Given the description of an element on the screen output the (x, y) to click on. 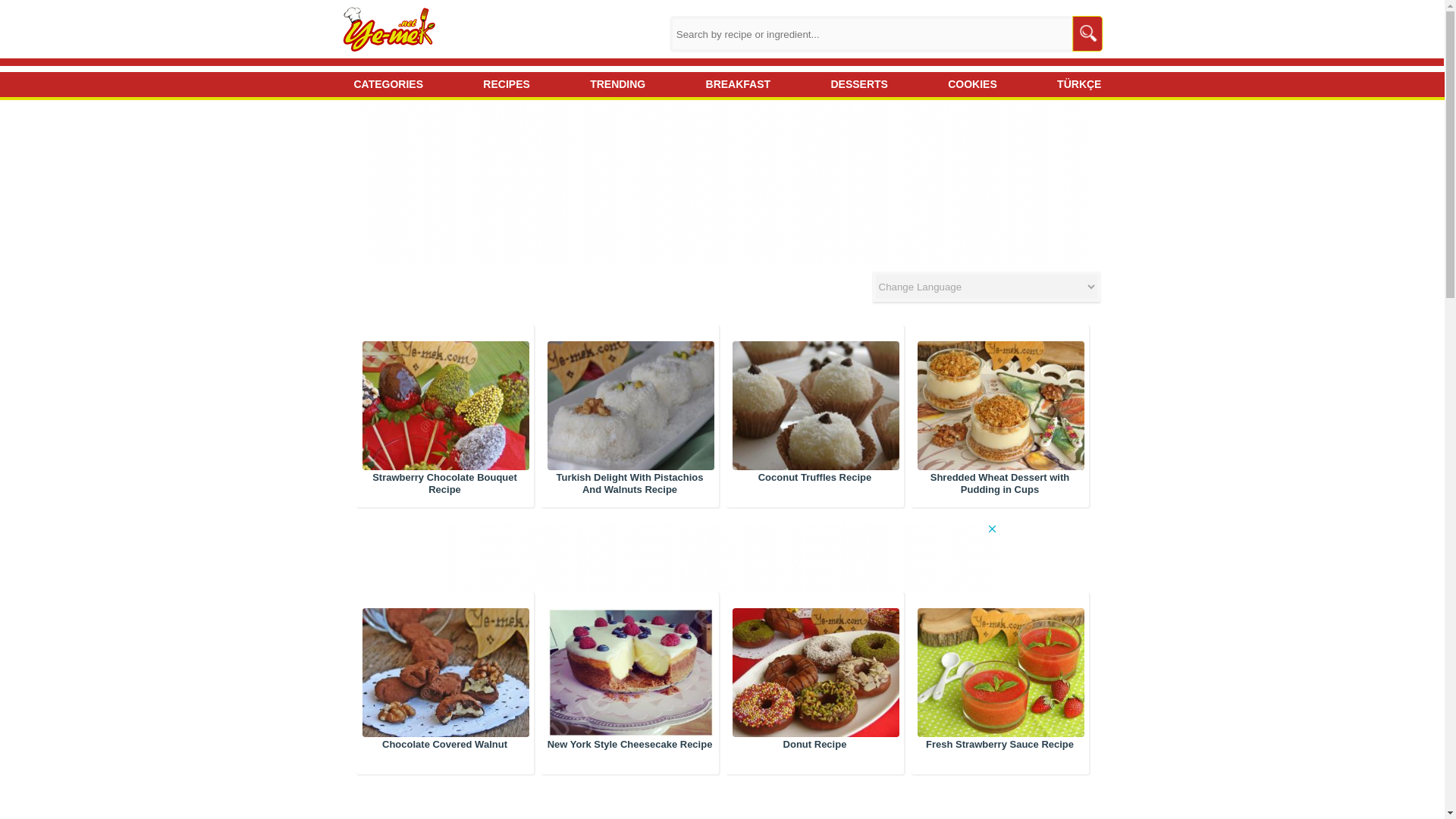
New York Style Cheesecake Recipe (630, 744)
Donut Recipe (814, 678)
TRENDING (612, 84)
Shredded Wheat Dessert with Pudding in Cups (999, 411)
Strawberry Chocolate Bouquet Recipe (444, 483)
BREAKFAST (733, 84)
Shredded Wheat Dessert with Pudding in Cups (999, 483)
Chocolate Covered Walnut (443, 744)
ye-mek.net (391, 30)
Chocolate Covered Walnut (444, 678)
RECIPES (500, 84)
Turkish Delight With Pistachios And Walnuts Recipe (629, 483)
3rd party ad content (120, 208)
COOKIES (967, 84)
